Given the description of an element on the screen output the (x, y) to click on. 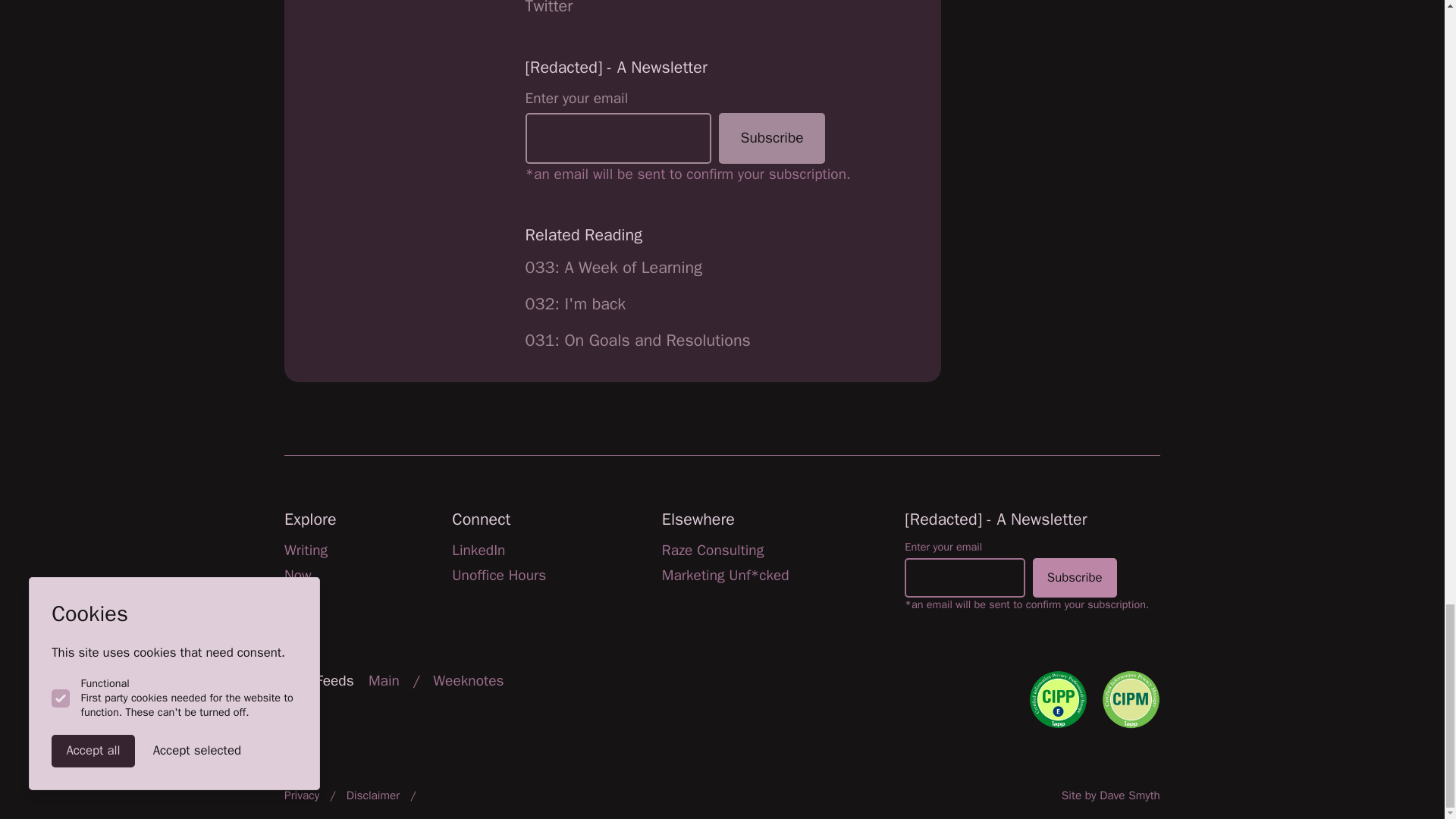
Subscribe (772, 138)
Unoffice Hours (498, 575)
Main (383, 680)
Now (297, 575)
Writing (305, 550)
Twitter (549, 7)
031: On Goals and Resolutions (638, 340)
LinkedIn (478, 550)
Subscribe (1074, 577)
Weeknotes (467, 680)
